Given the description of an element on the screen output the (x, y) to click on. 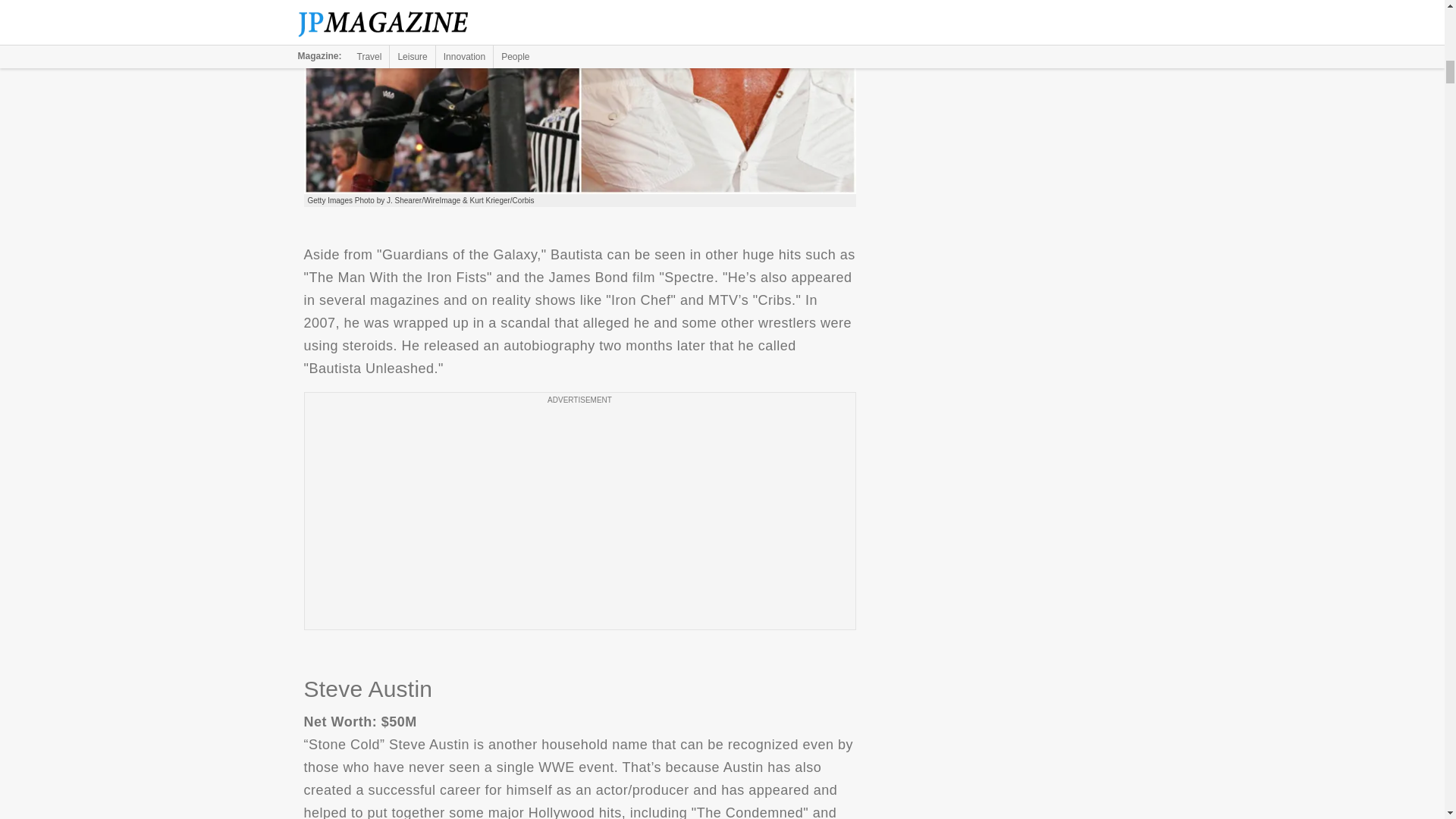
Batista (579, 97)
